Given the description of an element on the screen output the (x, y) to click on. 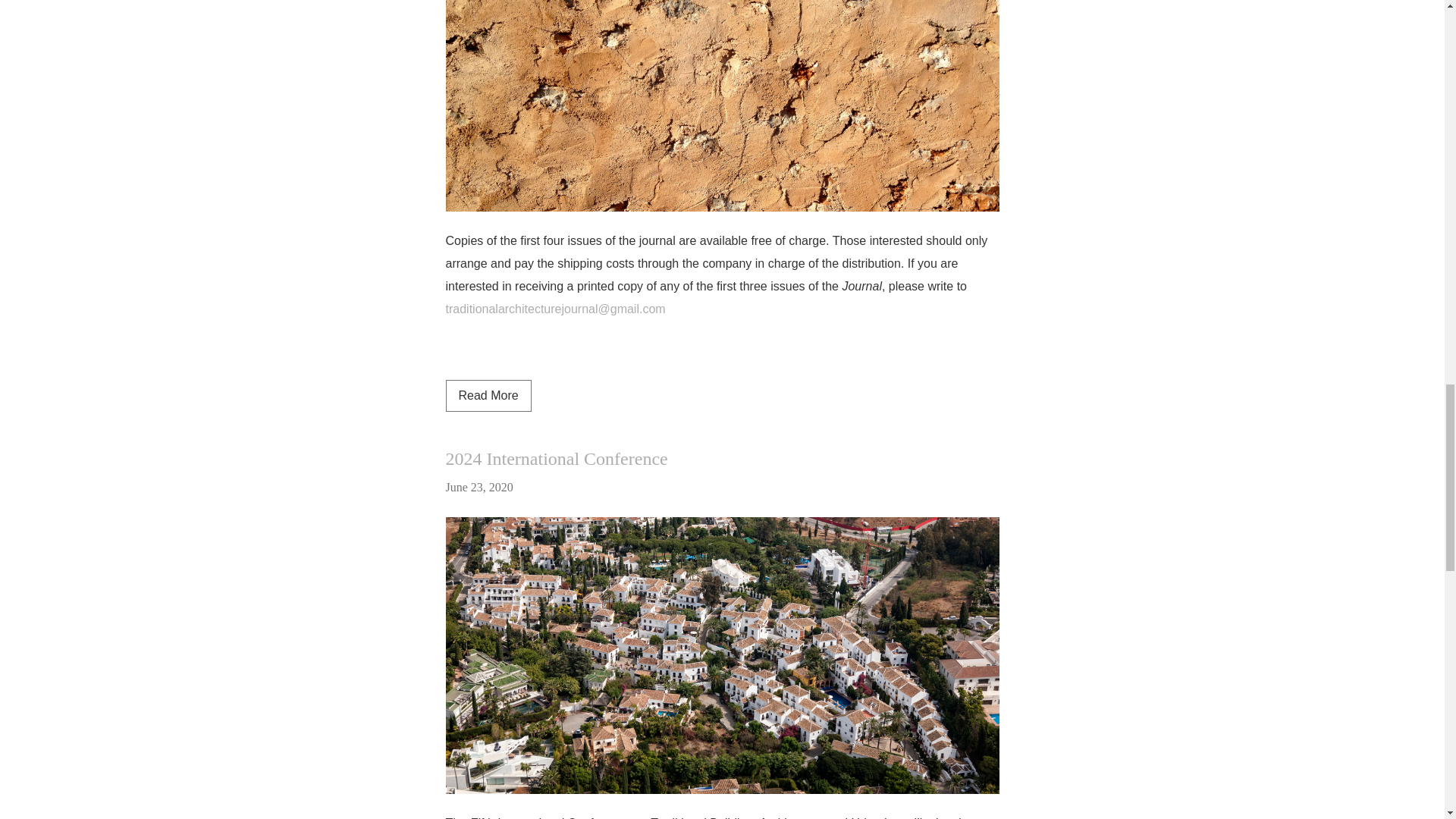
2024 International Conference (556, 458)
